Given the description of an element on the screen output the (x, y) to click on. 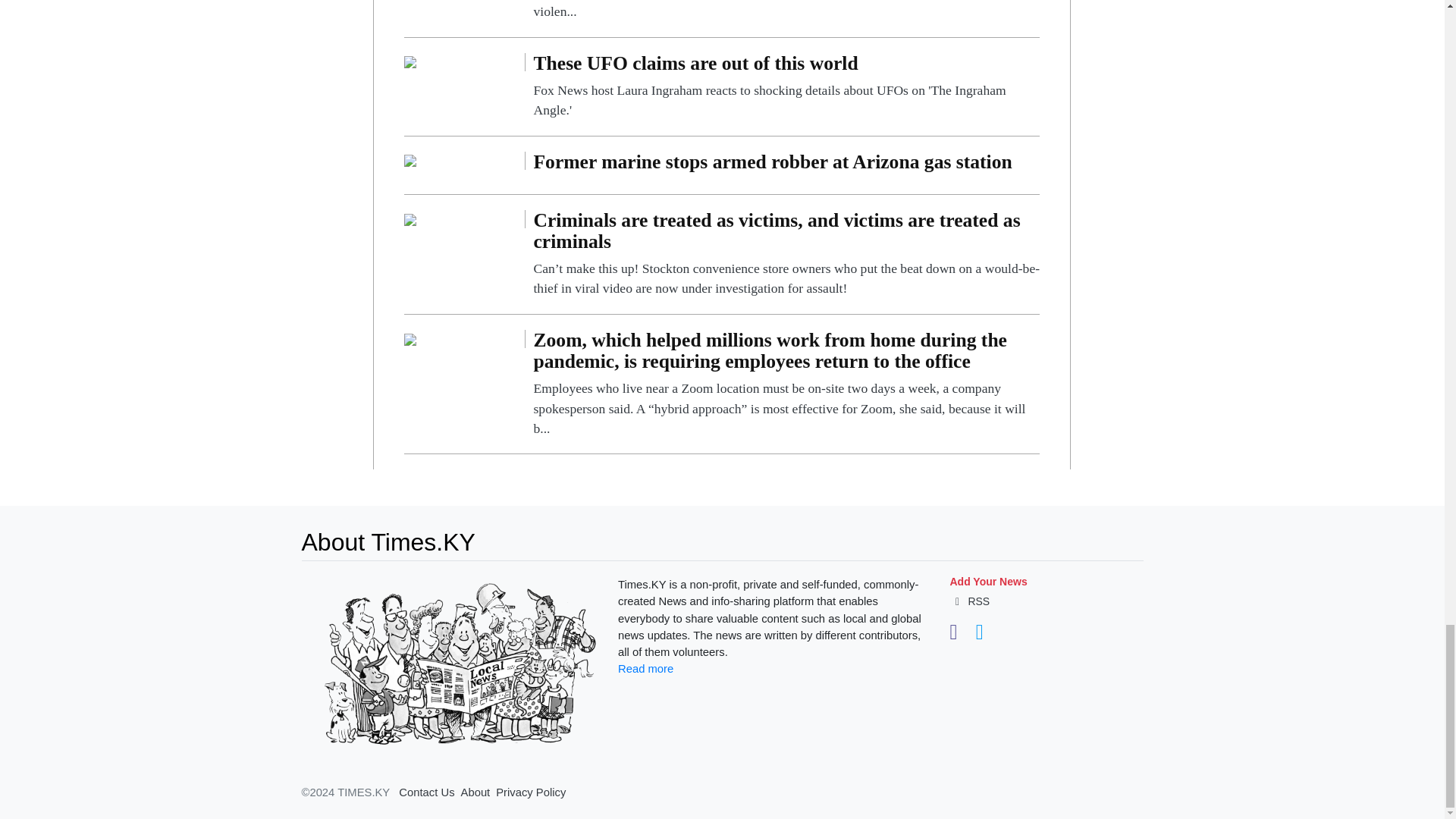
These UFO claims are out of this world (410, 61)
Former marine stops armed robber at Arizona gas station (785, 165)
Read more (644, 668)
Add Your News (987, 581)
These UFO claims are out of this world (785, 86)
Former marine stops armed robber at Arizona gas station (785, 165)
Former marine stops armed robber at Arizona gas station (410, 160)
RSS (969, 601)
